Given the description of an element on the screen output the (x, y) to click on. 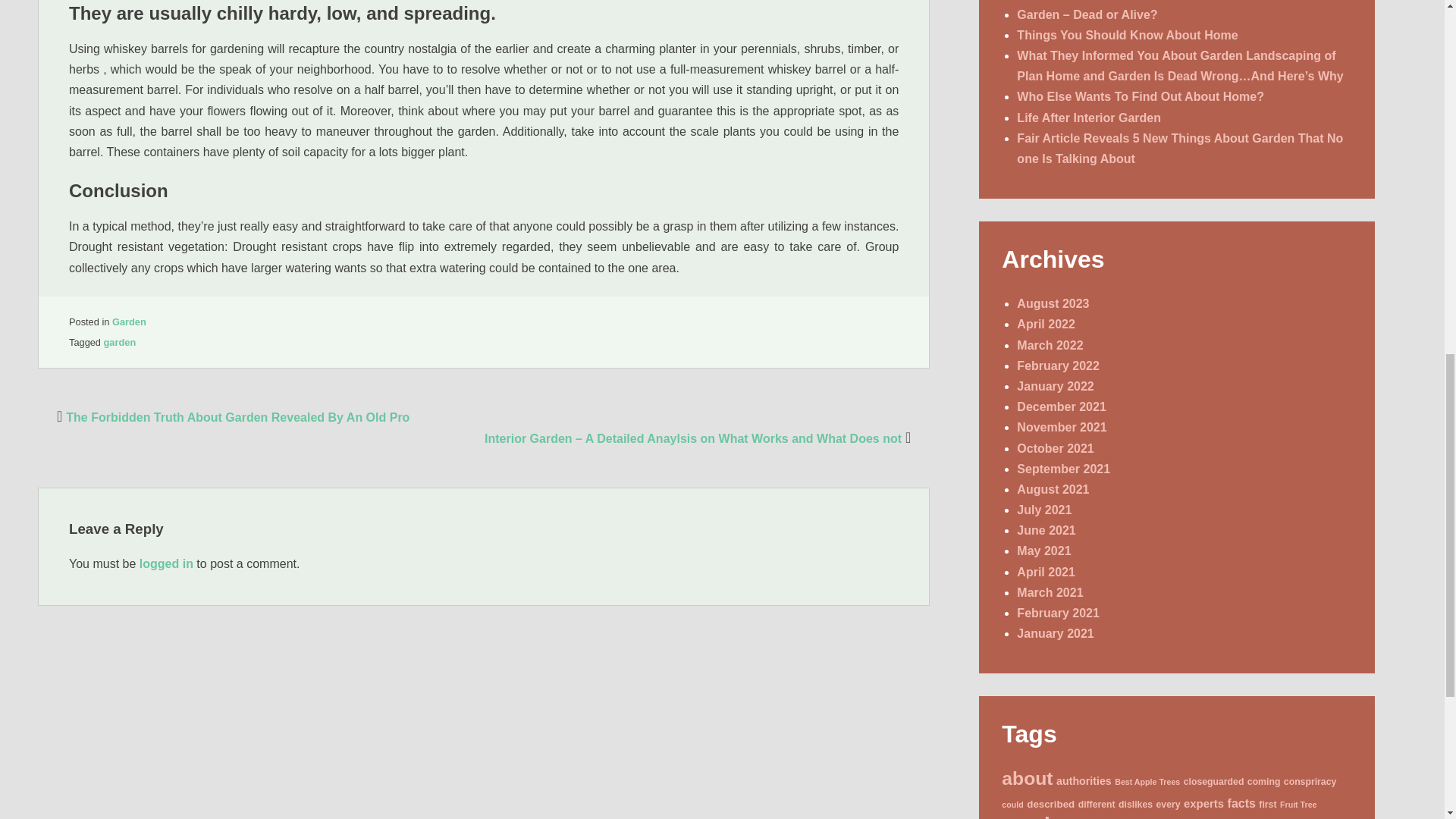
October 2021 (1054, 448)
Life After Interior Garden (1088, 117)
The Forbidden Truth About Garden Revealed By An Old Pro (230, 417)
December 2021 (1060, 406)
November 2021 (1061, 427)
March 2022 (1049, 345)
September 2021 (1062, 468)
August 2021 (1052, 489)
April 2022 (1045, 323)
garden (119, 342)
July 2021 (1043, 509)
logged in (166, 563)
Garden (129, 321)
February 2022 (1057, 365)
